Given the description of an element on the screen output the (x, y) to click on. 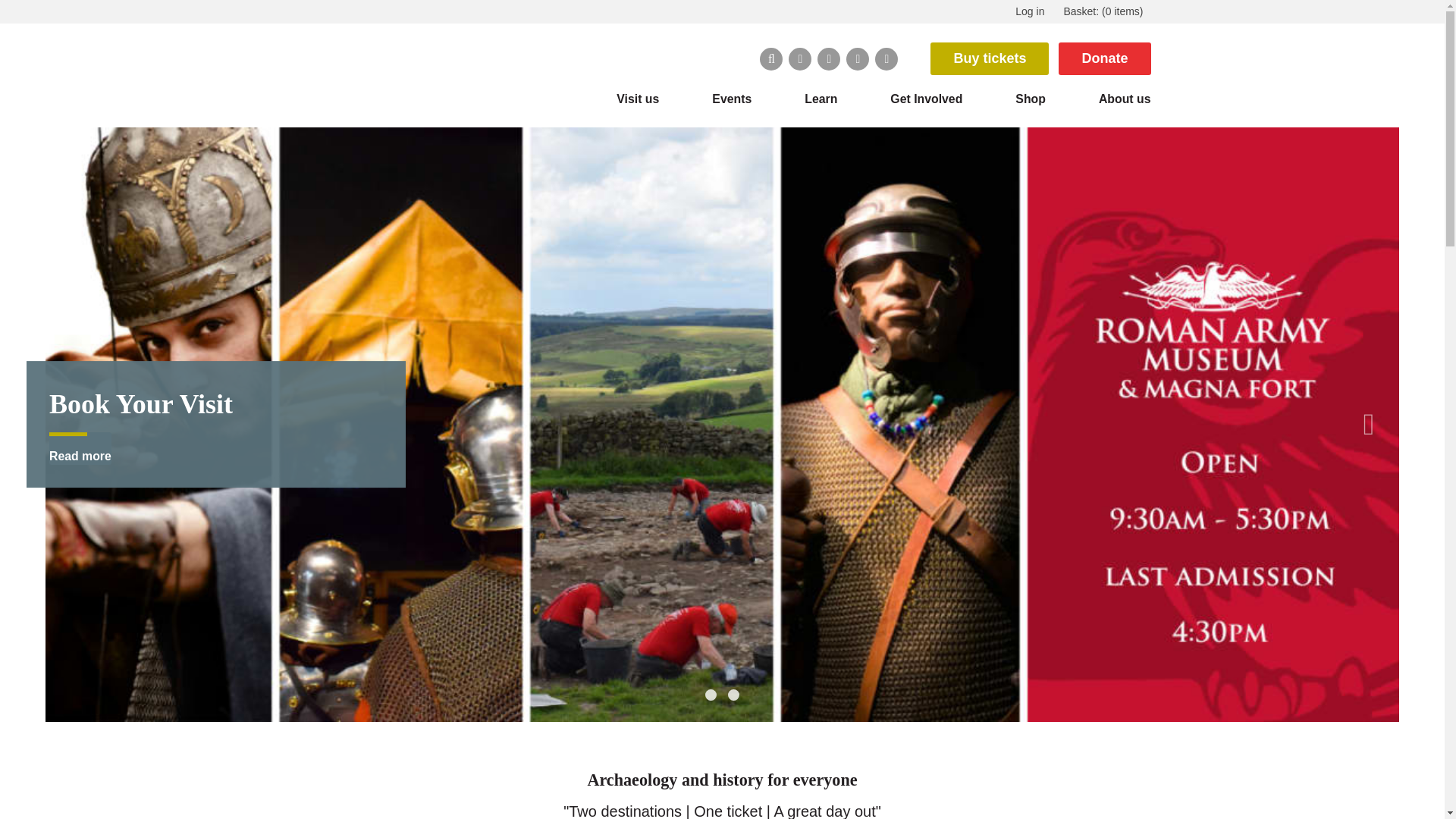
Learn (820, 99)
Instagram (857, 57)
Buy tickets (989, 58)
Log in to contribute or update your details (1029, 11)
Twitter (799, 57)
View your basket (1102, 11)
YouTube (886, 57)
Get Involved drop down menu (925, 99)
Events drop down menu (732, 99)
The Vindolanda Trust (407, 77)
